Given the description of an element on the screen output the (x, y) to click on. 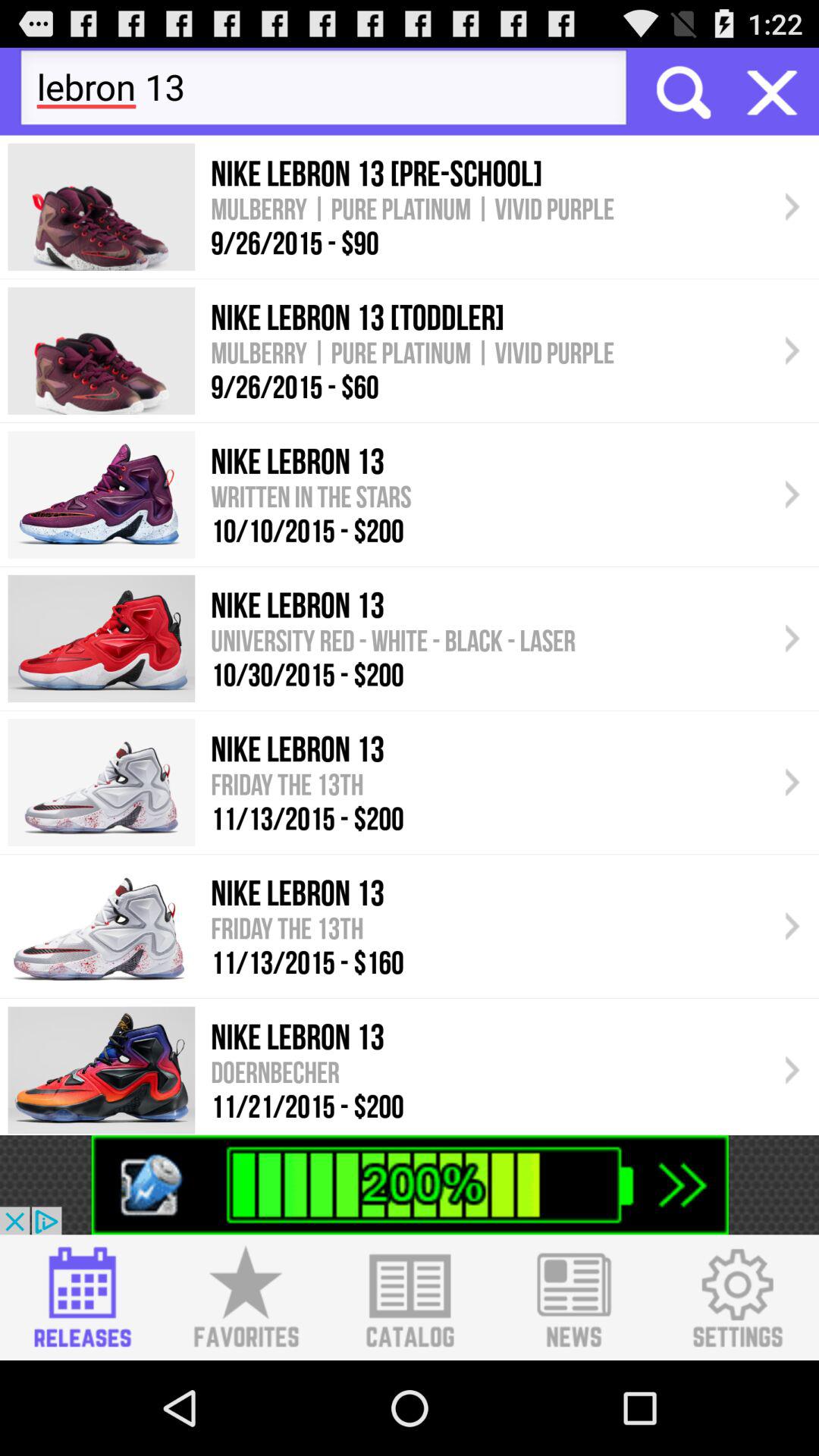
search (682, 91)
